Given the description of an element on the screen output the (x, y) to click on. 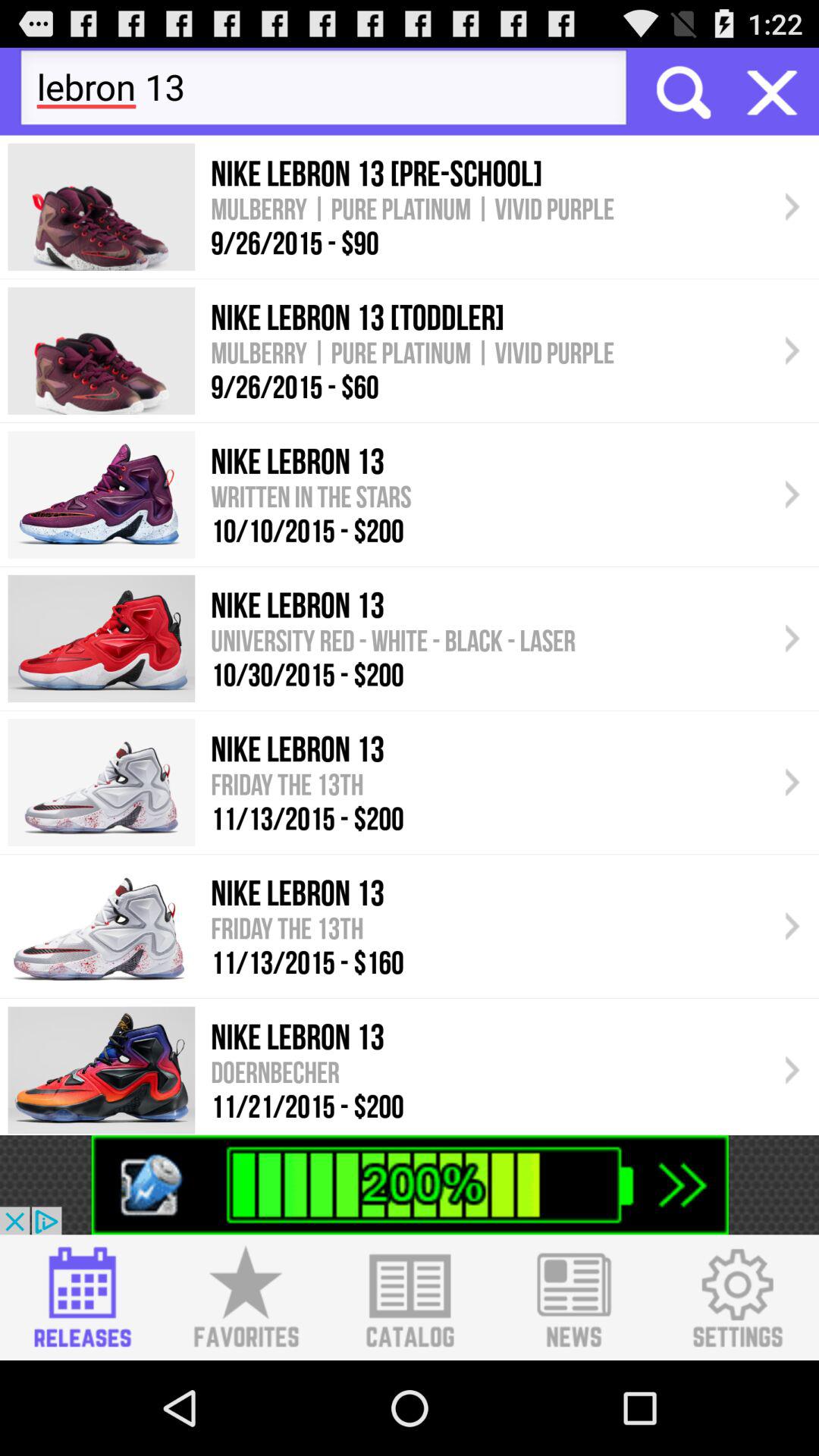
search (682, 91)
